Given the description of an element on the screen output the (x, y) to click on. 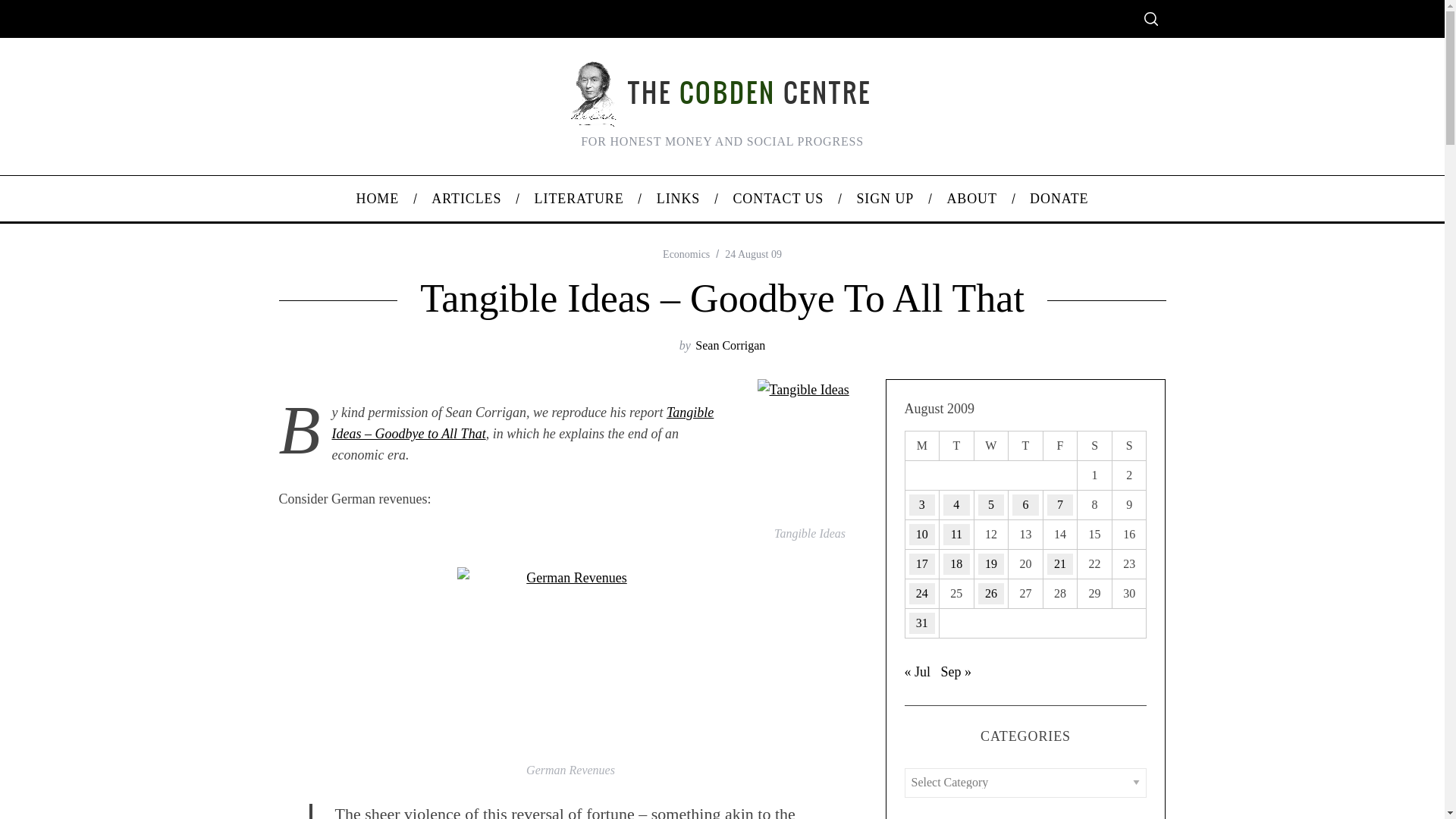
GermanRevenues (570, 659)
Tuesday (956, 445)
Friday (1059, 445)
DONATE (1059, 198)
ABOUT (971, 198)
Sean Corrigan (730, 345)
Saturday (1094, 445)
Monday (921, 445)
Wednesday (991, 445)
Thursday (1026, 445)
